Given the description of an element on the screen output the (x, y) to click on. 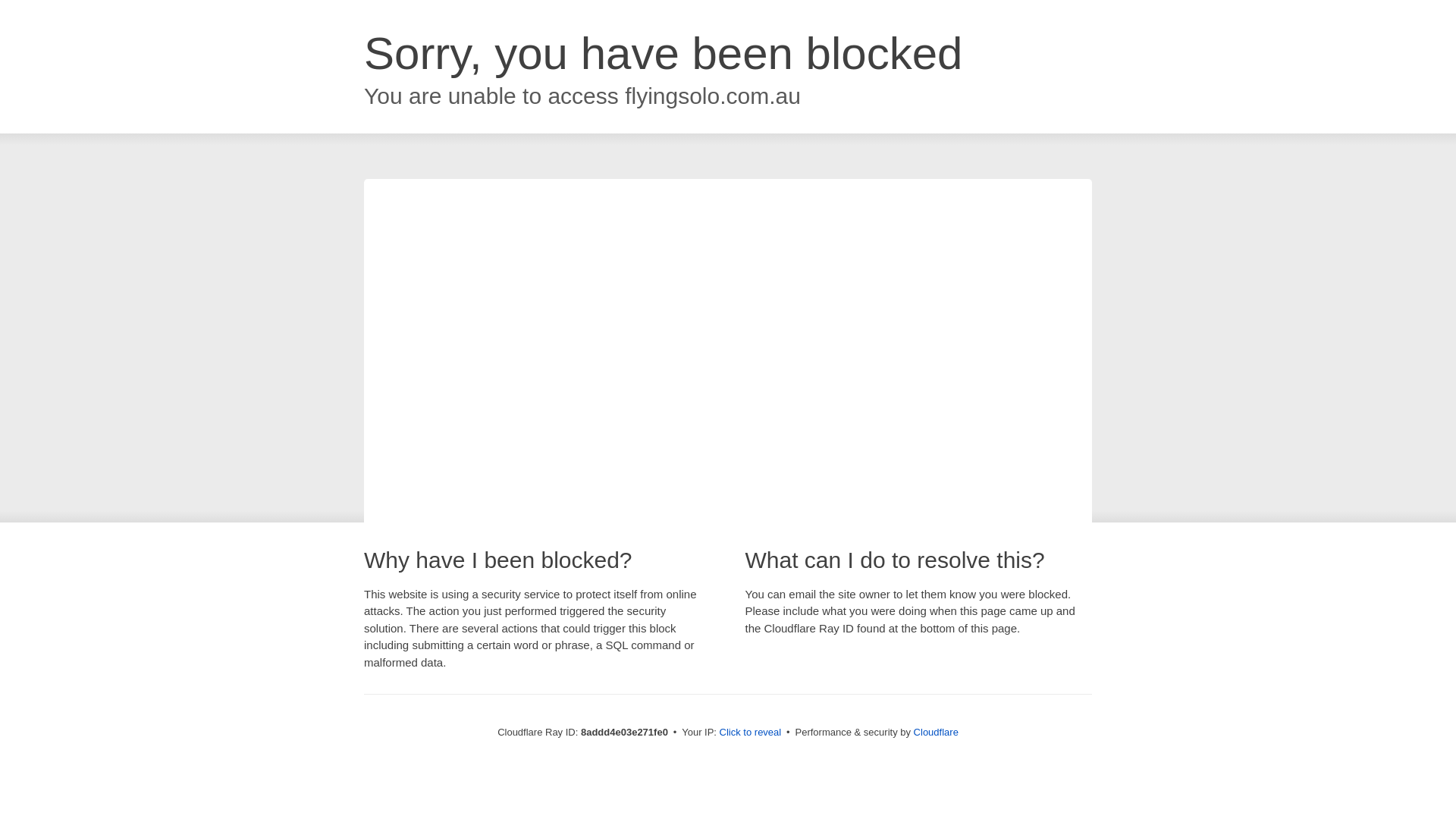
Click to reveal (750, 732)
Cloudflare (936, 731)
